Given the description of an element on the screen output the (x, y) to click on. 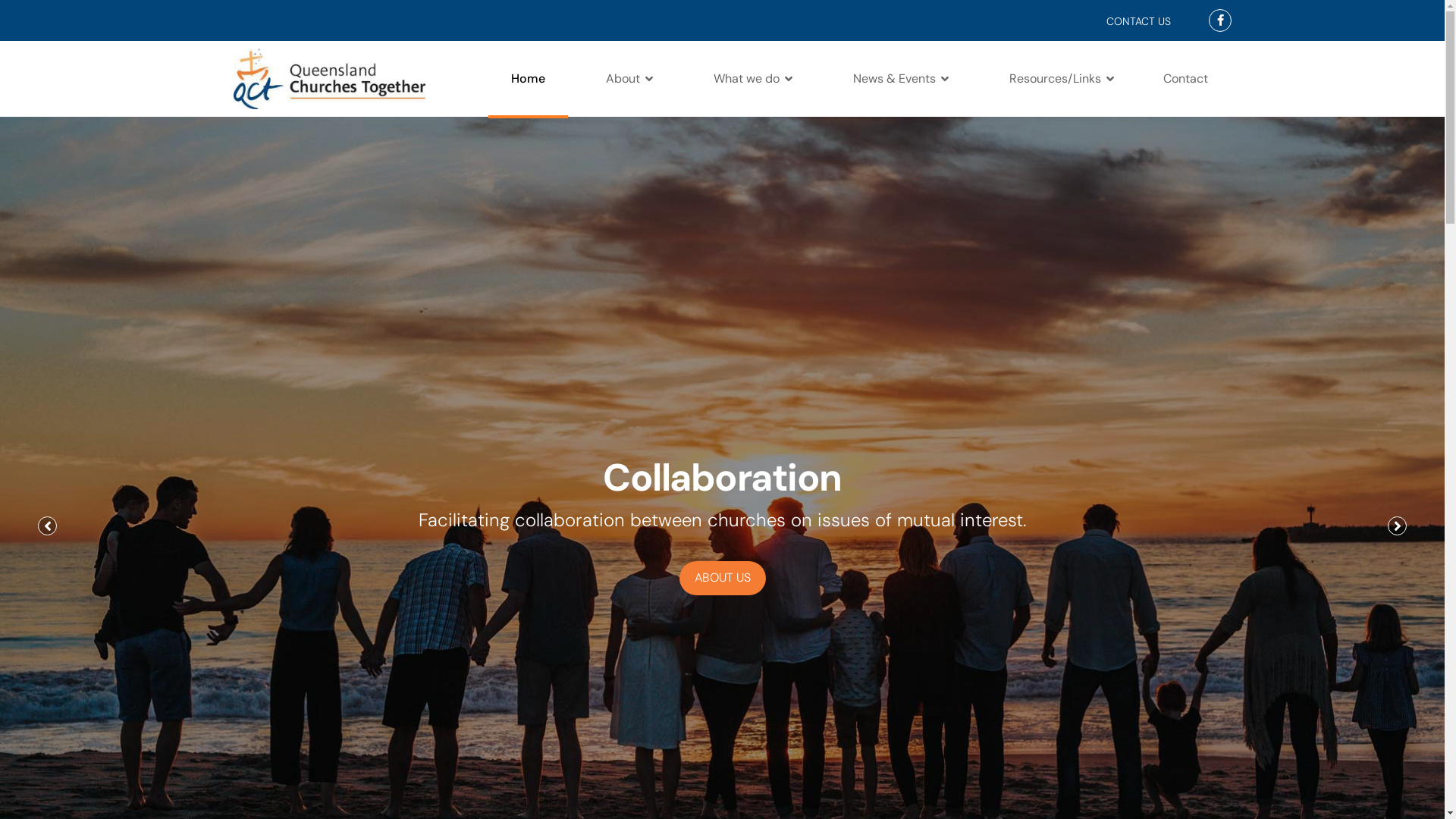
About Element type: text (628, 78)
Facebook Element type: hover (1220, 19)
Contact Element type: text (1179, 78)
ABOUT US Element type: text (722, 578)
CONTACT US Element type: text (1138, 21)
What we do Element type: text (752, 78)
Home Element type: text (527, 78)
Resources/Links Element type: text (1060, 78)
News & Events Element type: text (899, 78)
